Given the description of an element on the screen output the (x, y) to click on. 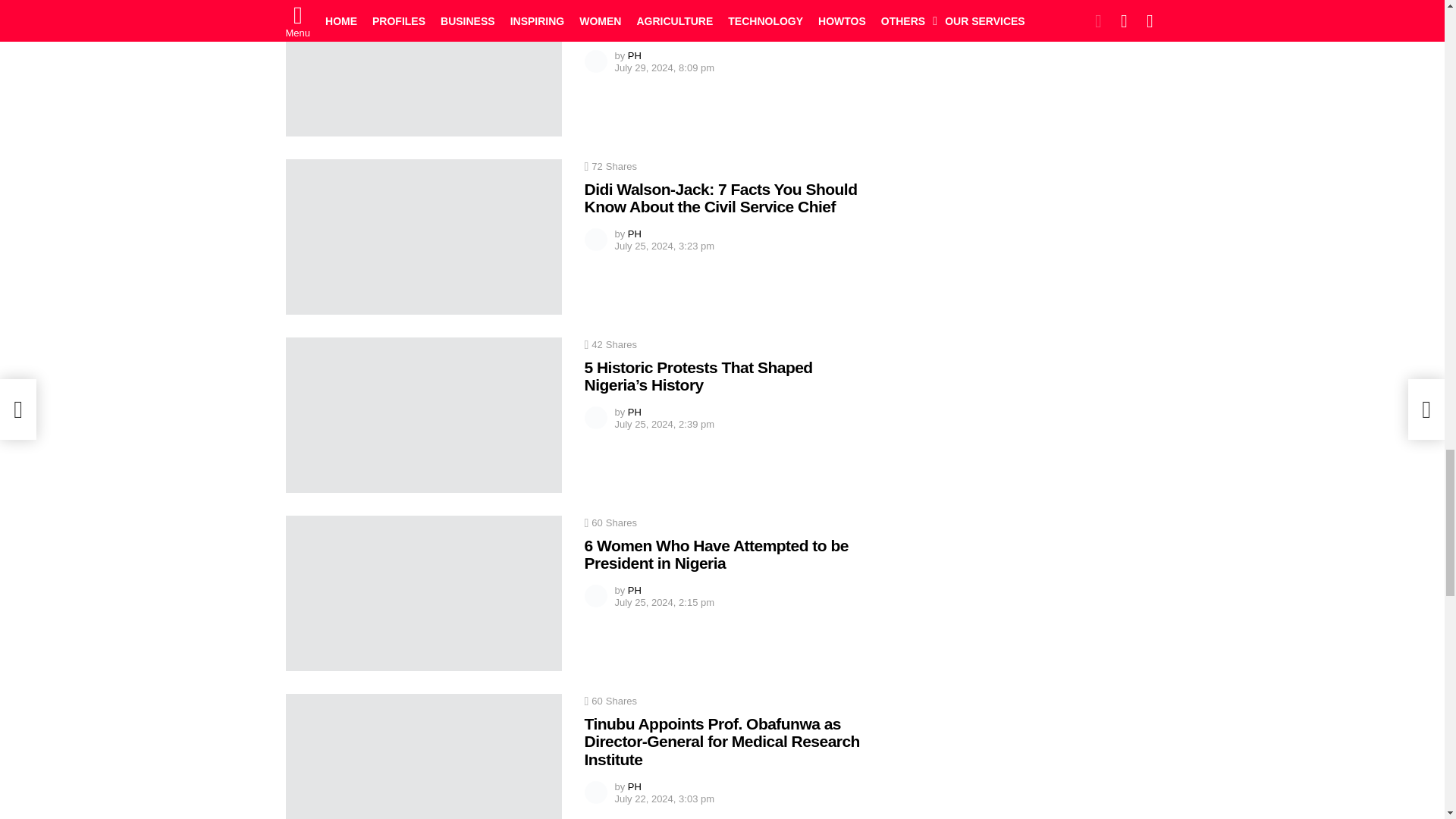
Posts by PH (634, 233)
Trending (307, 2)
Posts by PH (634, 55)
Ondo Governor Appoints Seyi Law, Others As Aides (422, 68)
